Given the description of an element on the screen output the (x, y) to click on. 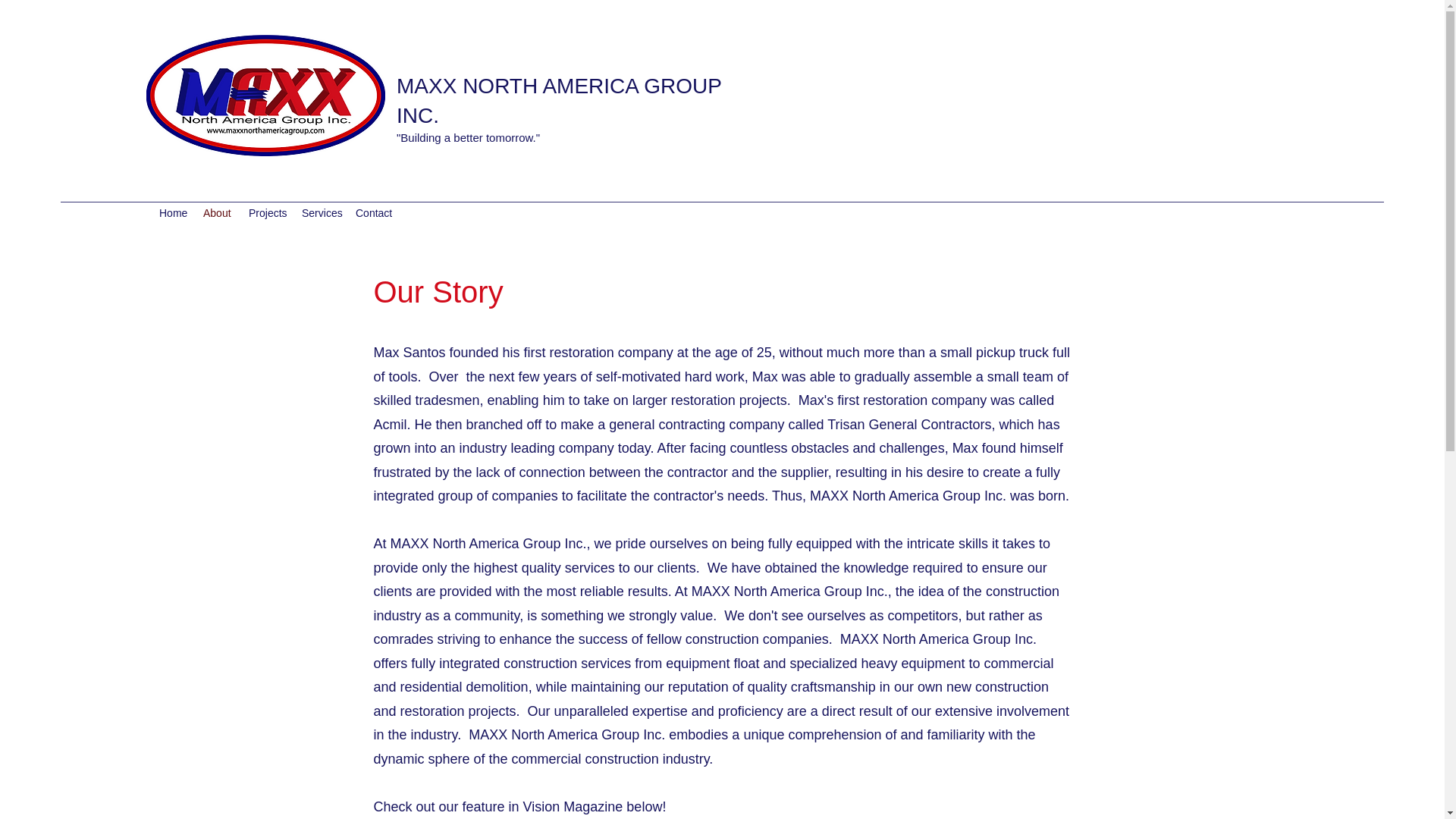
Contact (374, 212)
MAXX NORTH AMERICA GROUP INC. (558, 100)
Services (320, 212)
Home (173, 212)
About (218, 212)
Projects (267, 212)
